Given the description of an element on the screen output the (x, y) to click on. 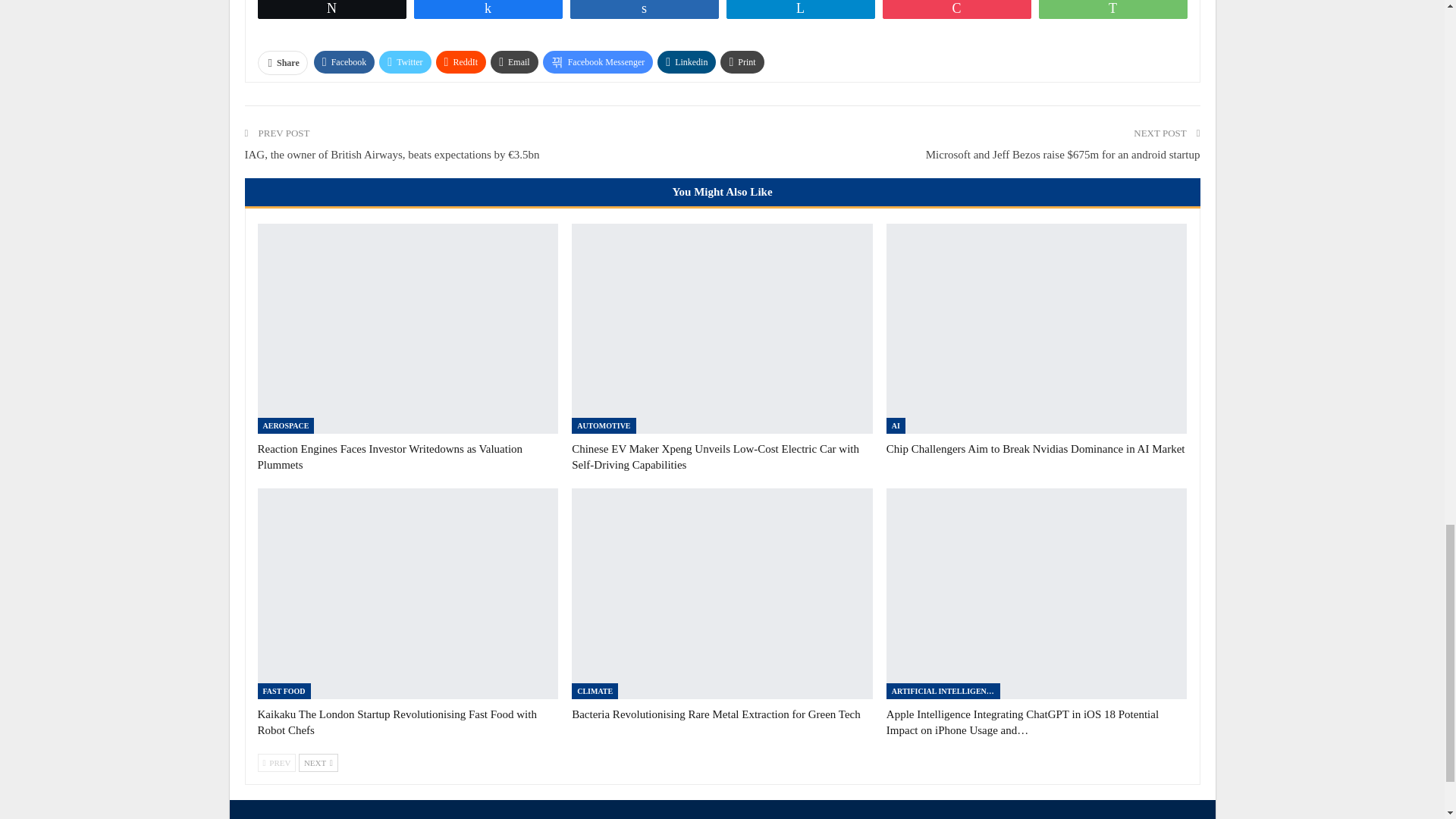
Previous (277, 762)
Chip Challengers Aim to Break Nvidias Dominance in AI Market (1037, 328)
Chip Challengers Aim to Break Nvidias Dominance in AI Market (1035, 449)
